Given the description of an element on the screen output the (x, y) to click on. 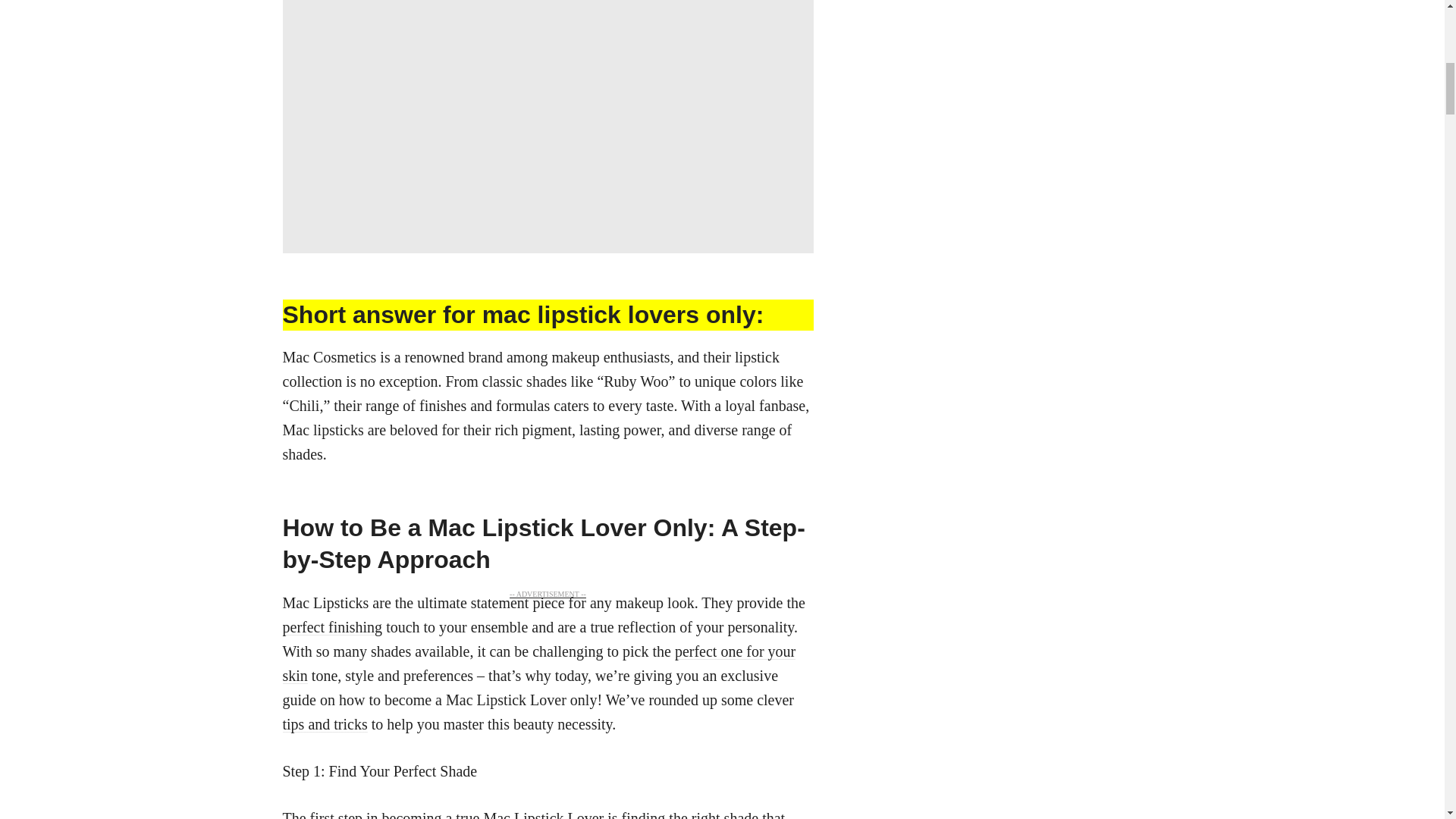
tips and tricks (324, 723)
shade that compliments your skin tone (533, 814)
perfect one for your skin (538, 662)
perfect finishing (331, 627)
